Given the description of an element on the screen output the (x, y) to click on. 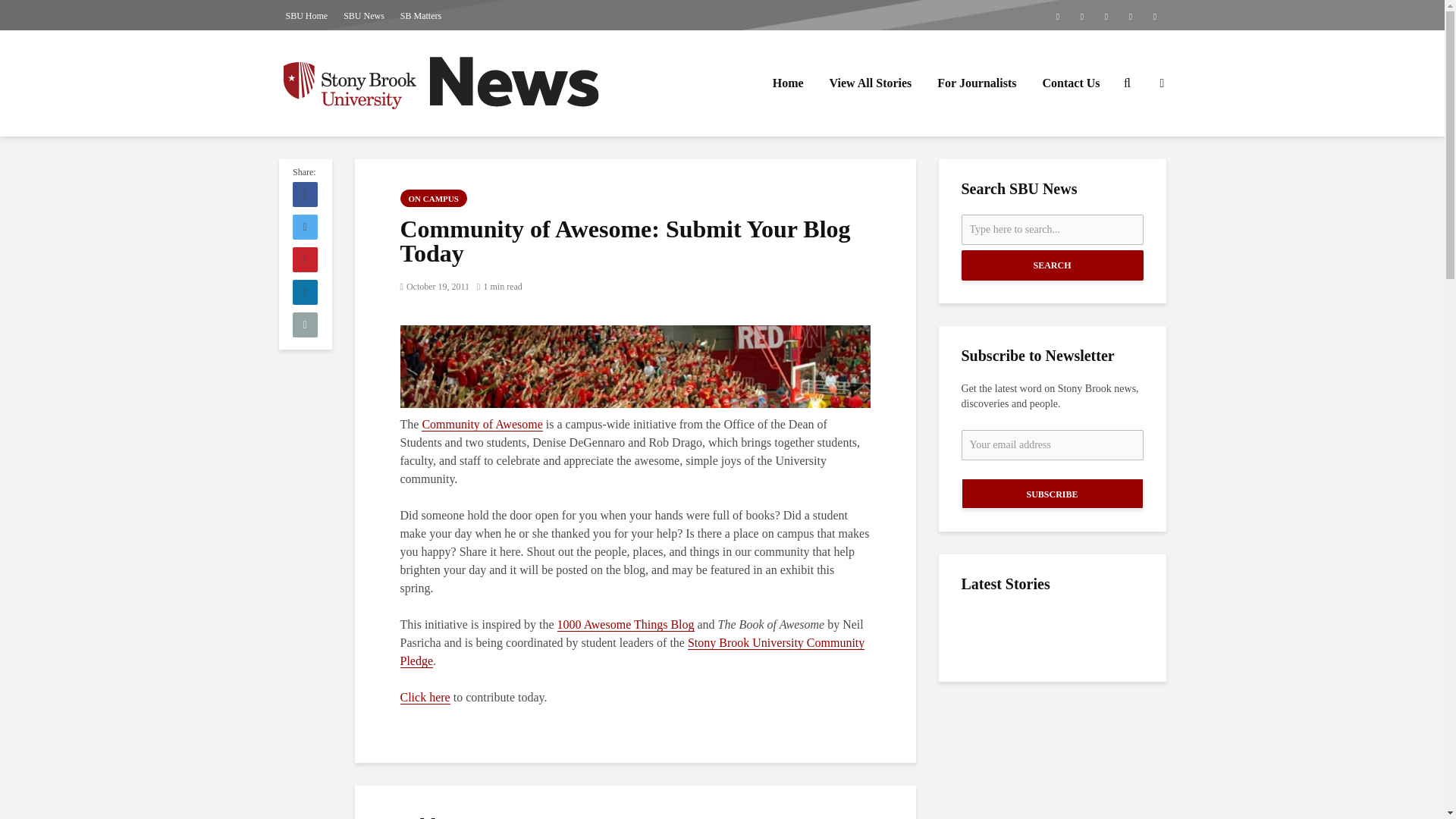
Subscribe (1051, 493)
SBU Home (306, 15)
community of awesome (635, 366)
SB Matters (420, 15)
SBU News (363, 15)
View All Stories (870, 82)
For Journalists (976, 82)
Home (788, 82)
Contact Us (1071, 82)
